Given the description of an element on the screen output the (x, y) to click on. 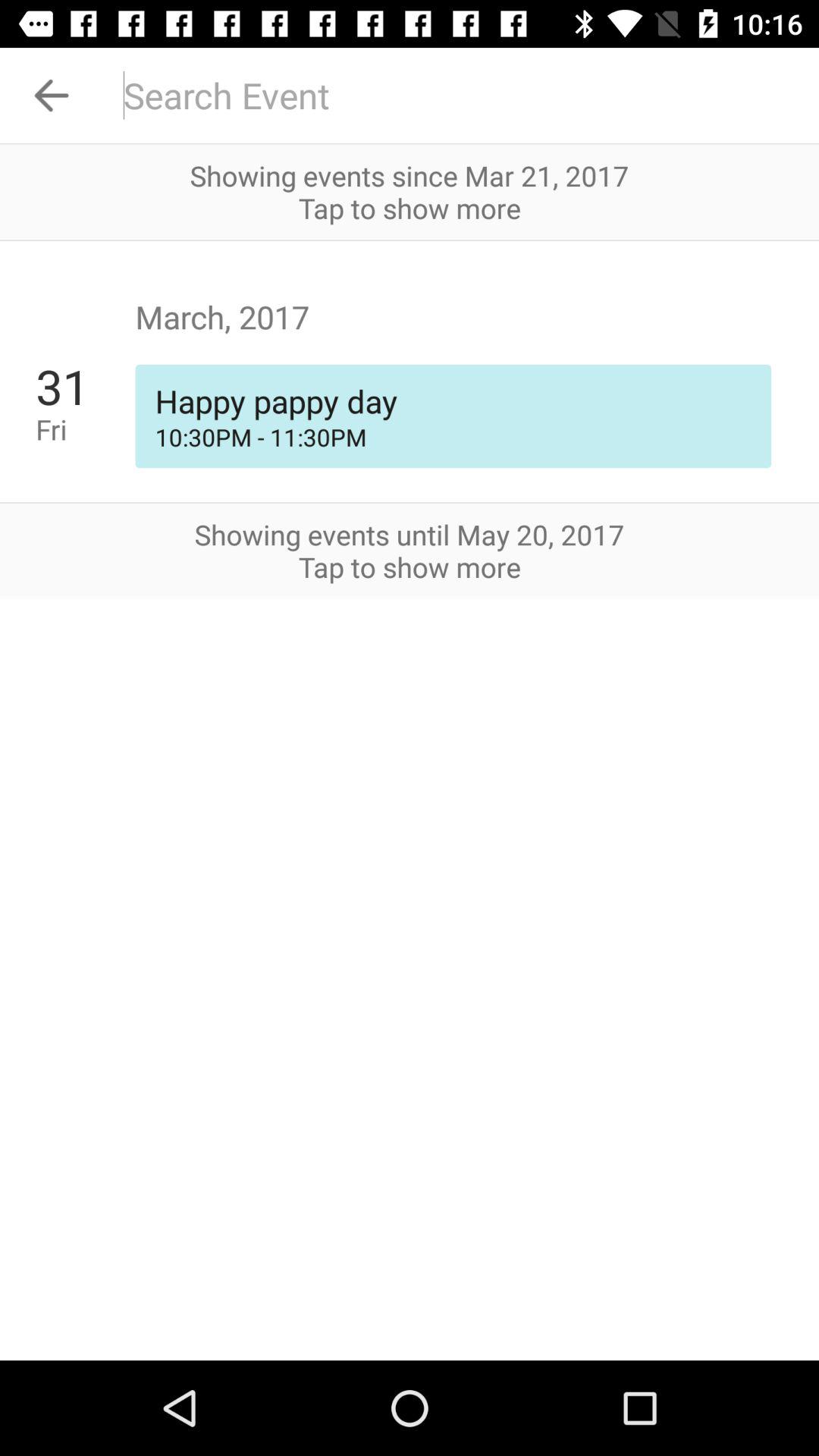
jump until fri app (85, 429)
